Given the description of an element on the screen output the (x, y) to click on. 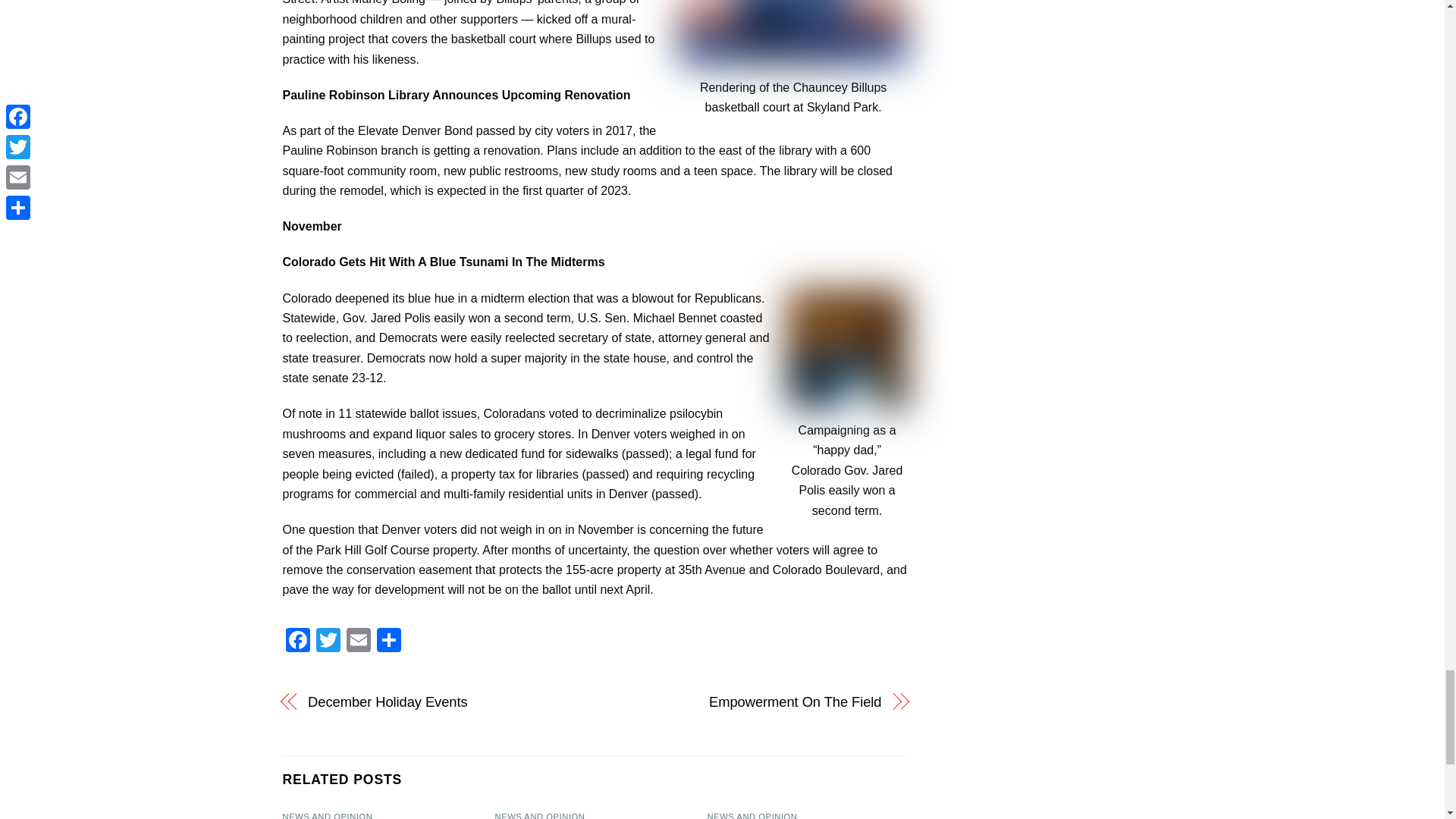
Email (357, 642)
Twitter (327, 642)
Facebook (297, 642)
